Given the description of an element on the screen output the (x, y) to click on. 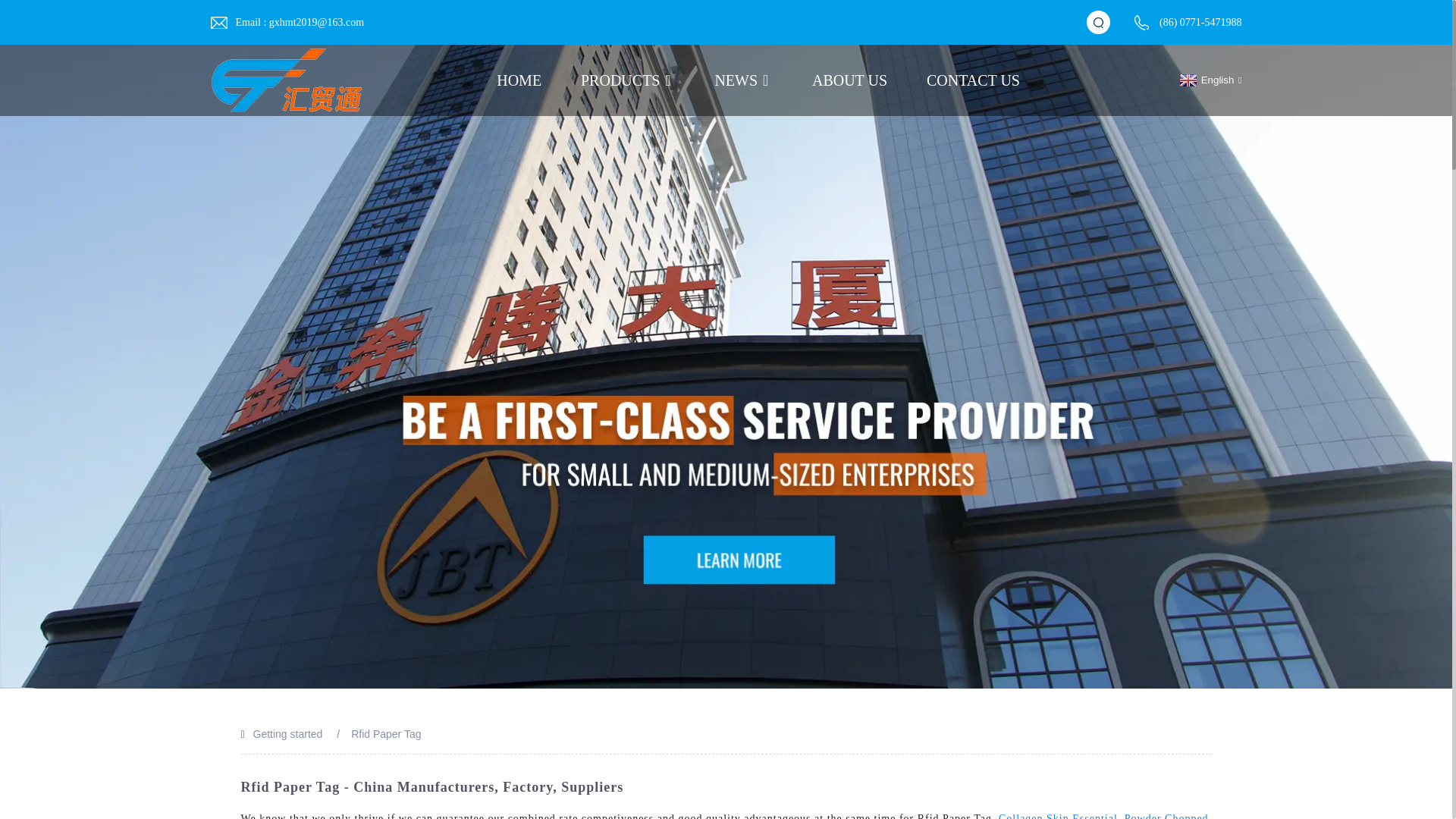
ABOUT US (849, 80)
Rfid Paper Tag (385, 734)
English (1208, 79)
Collagen Skin Essential (1058, 816)
Getting started (288, 734)
English (1208, 79)
Collagen Skin Essential (1058, 816)
PRODUCTS (627, 80)
CONTACT US (973, 80)
